Given the description of an element on the screen output the (x, y) to click on. 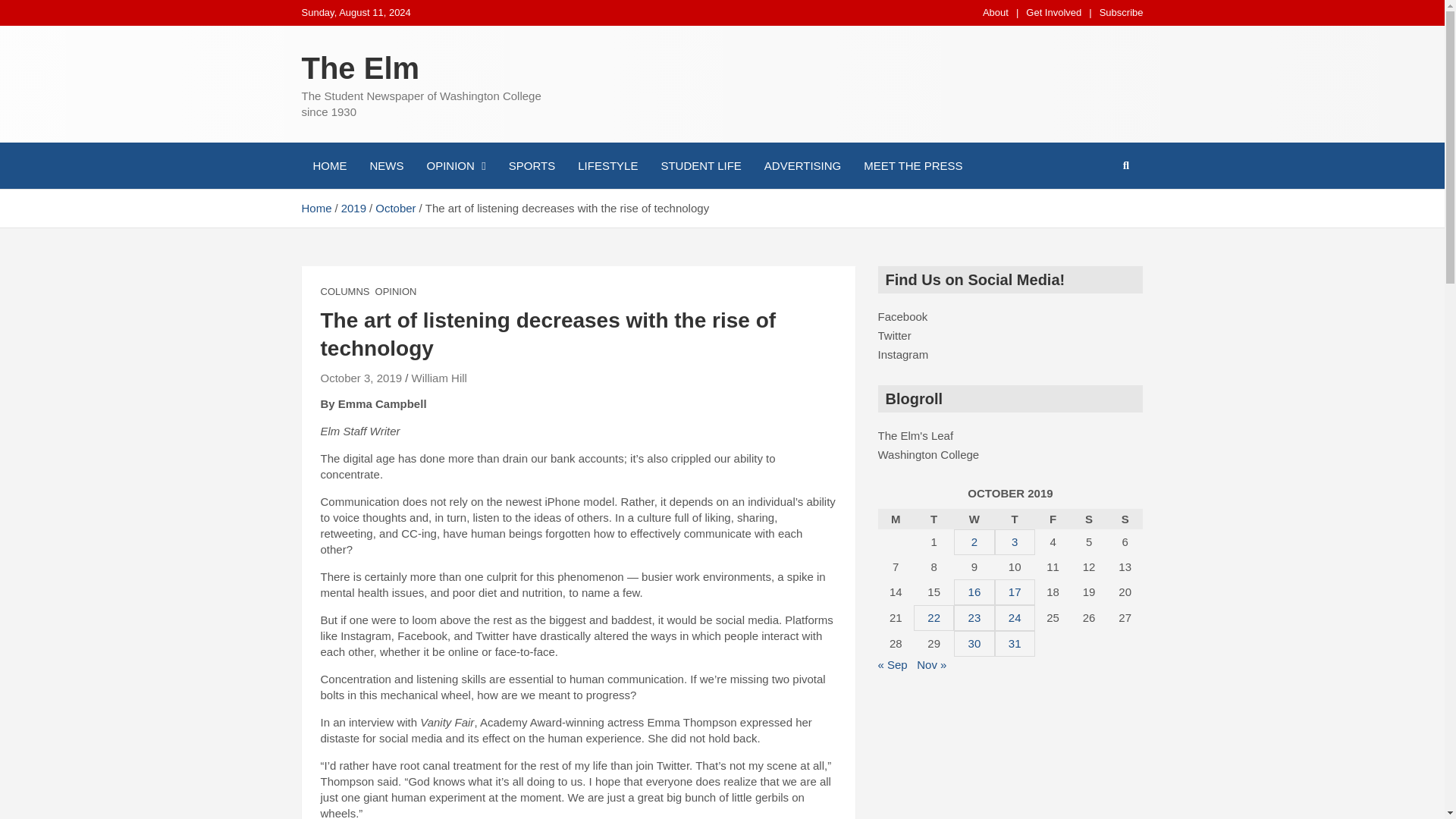
Tuesday (933, 518)
October (394, 207)
Monday (895, 518)
The Elm's Leaf (915, 435)
Home (316, 207)
Twitter (894, 335)
COLUMNS (344, 291)
2019 (353, 207)
NEWS (386, 165)
LIFESTYLE (607, 165)
